Given the description of an element on the screen output the (x, y) to click on. 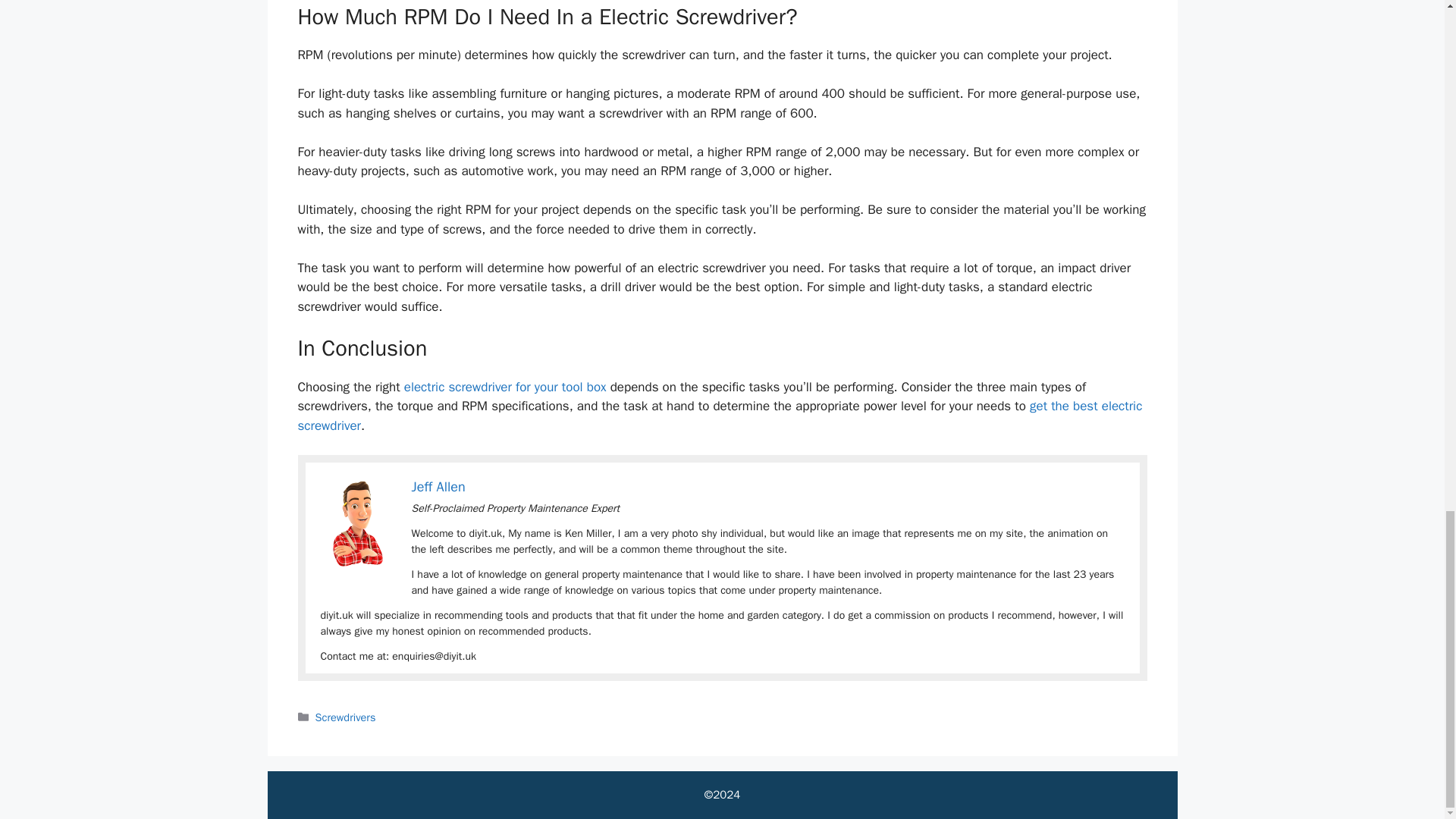
electric screwdriver for your tool box (505, 386)
Scroll back to top (1406, 156)
get the best electric screwdriver (719, 416)
Jeff Allen (437, 486)
Screwdrivers (345, 716)
